Given the description of an element on the screen output the (x, y) to click on. 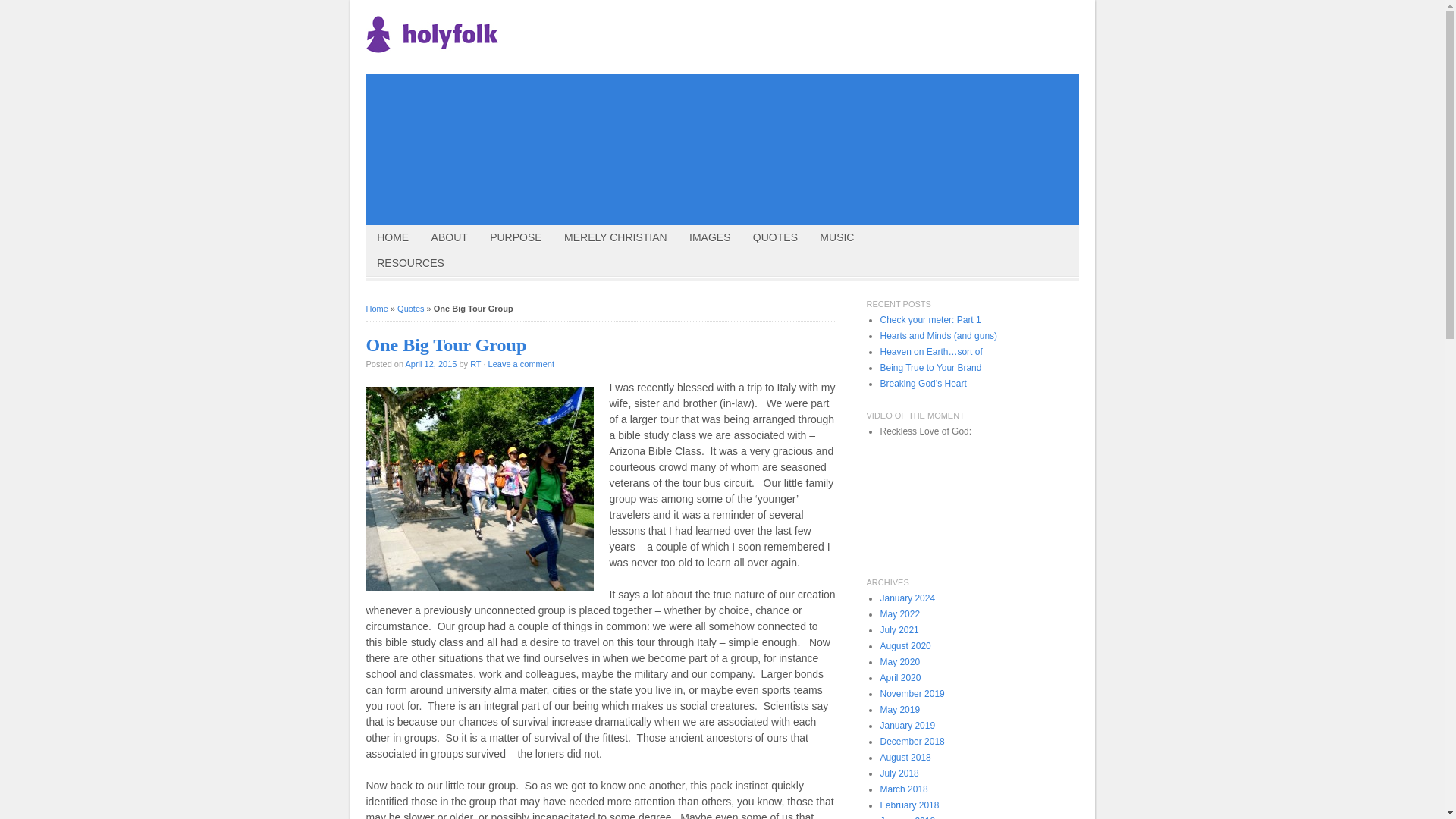
RESOURCES (409, 263)
MERELY CHRISTIAN (615, 237)
One Big Tour Group (445, 344)
MUSIC (837, 237)
Holyfolk - A community for discussing our faith (431, 34)
Home (376, 307)
Leave a comment (520, 363)
January 2019 (906, 725)
PURPOSE (516, 237)
RT (475, 363)
